Given the description of an element on the screen output the (x, y) to click on. 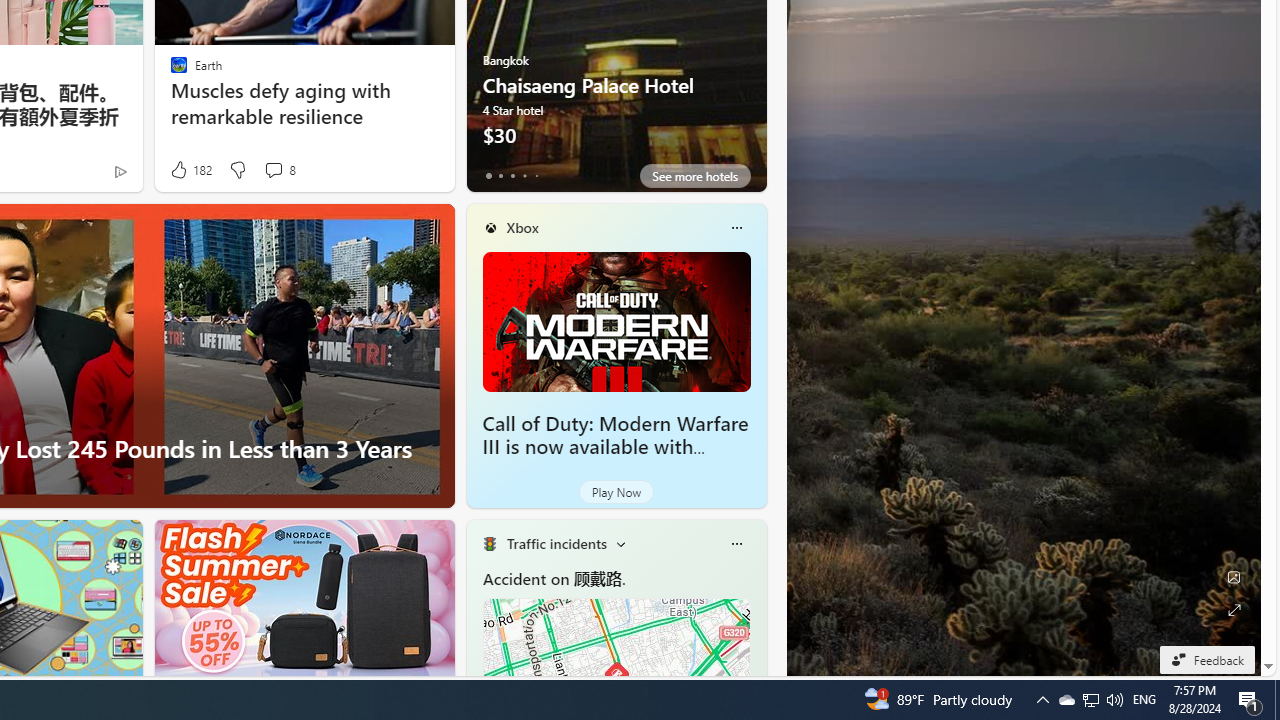
tab-4 (535, 175)
More options (736, 543)
Xbox (521, 227)
View comments 8 Comment (279, 170)
Class: icon-img (736, 543)
Expand background (1233, 610)
Edit Background (1233, 577)
tab-2 (511, 175)
Traffic Title Traffic Light (489, 543)
Ad Choice (119, 171)
Traffic incidents (555, 543)
tab-1 (500, 175)
